Given the description of an element on the screen output the (x, y) to click on. 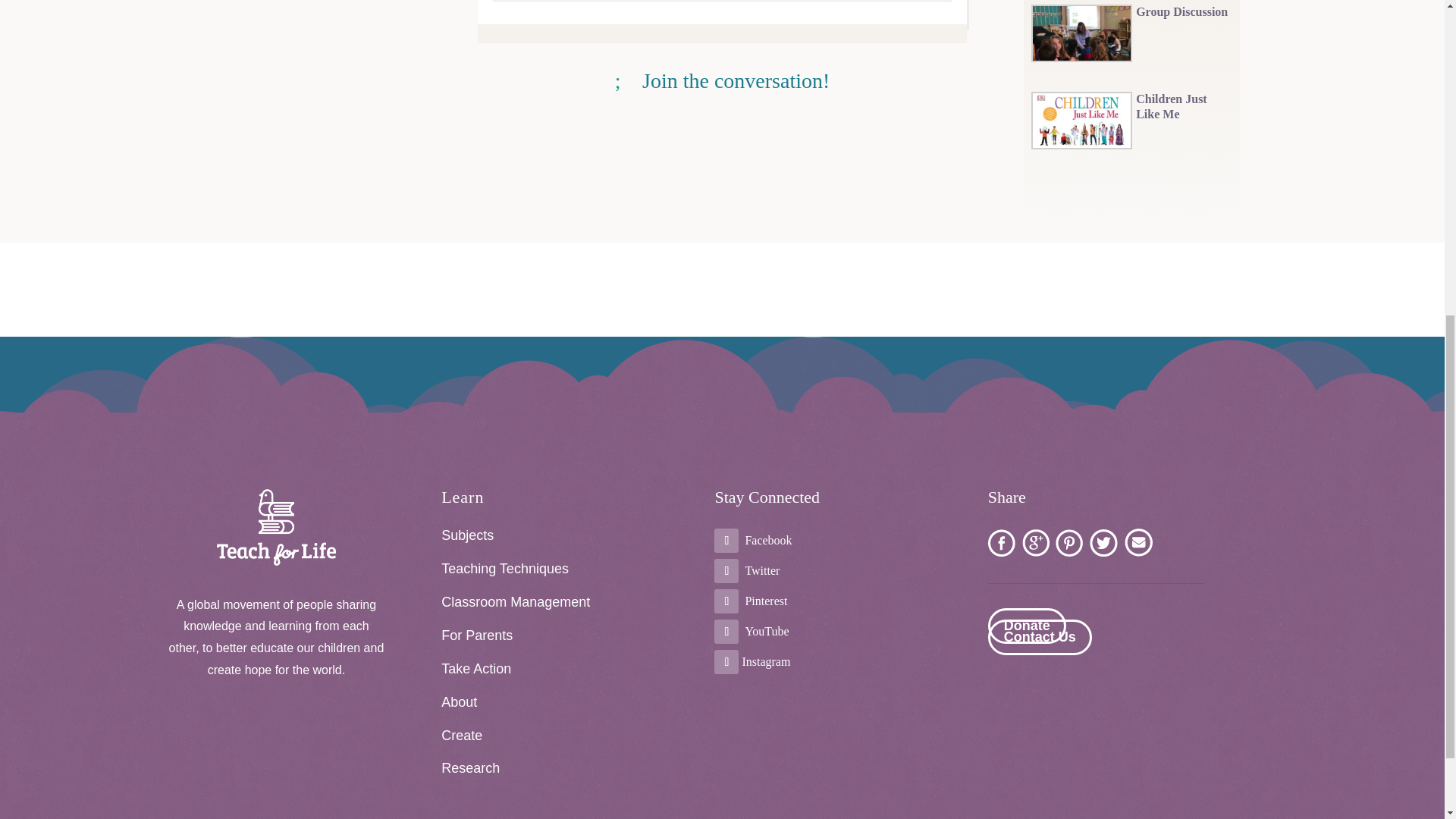
Group Discussion (1183, 11)
Follow on Pinterest (726, 600)
Follow on Instagram (726, 662)
Children Just Like Me (1183, 106)
Follow on Youtube (726, 631)
Follow on Twitter (726, 570)
Join the conversation! (721, 80)
Follow on Facebook (726, 540)
